Given the description of an element on the screen output the (x, y) to click on. 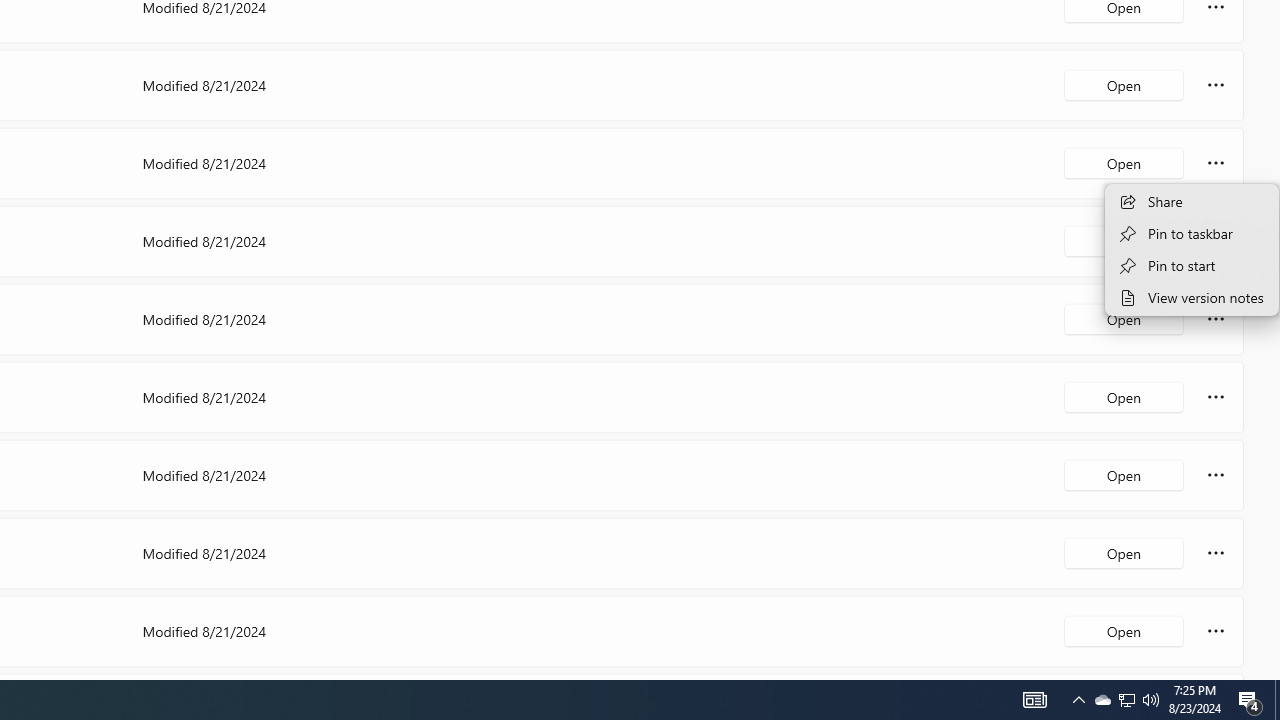
More options (1215, 630)
Open (1123, 630)
